Given the description of an element on the screen output the (x, y) to click on. 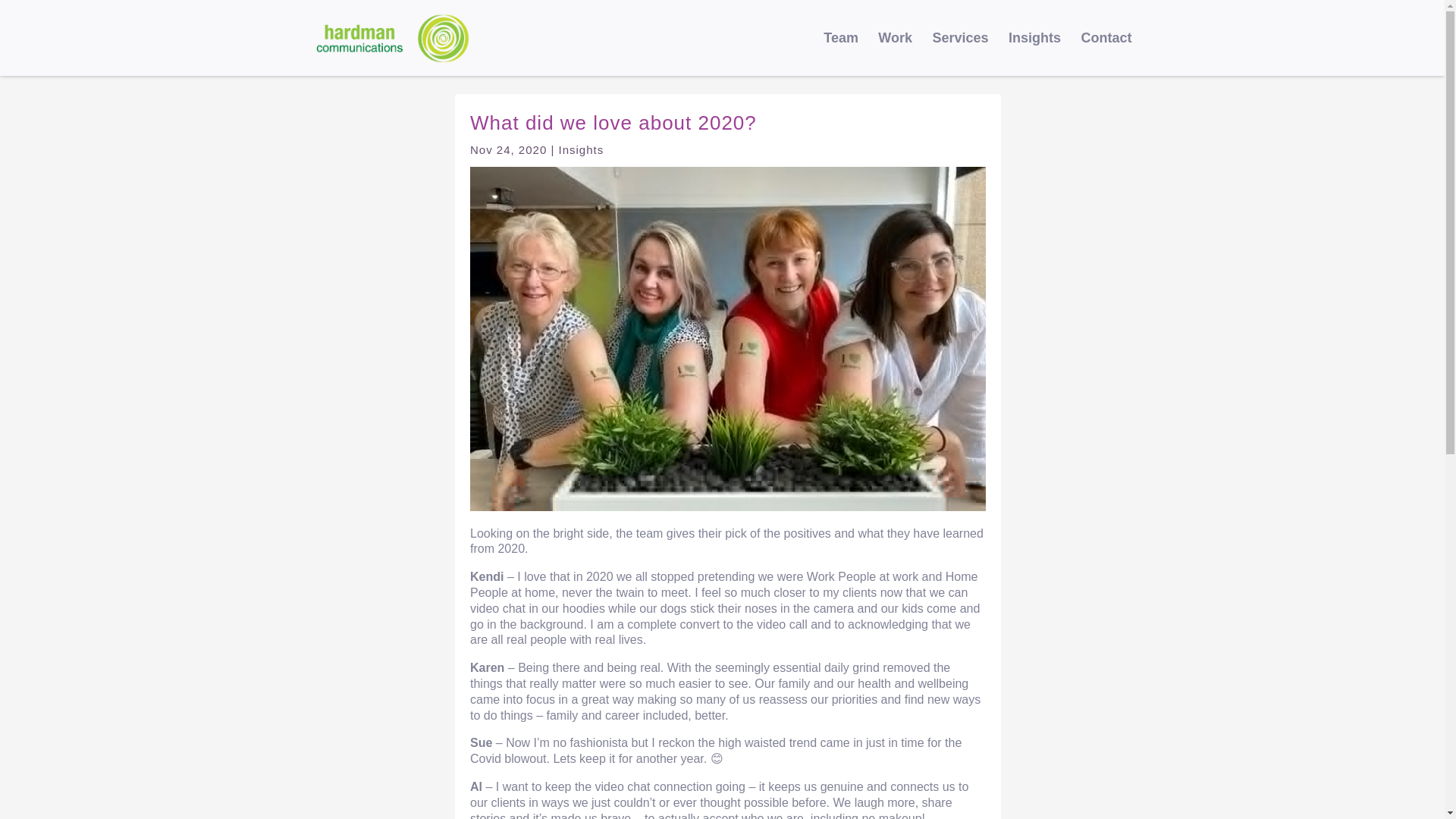
Contact (1106, 49)
Insights (580, 149)
Team (841, 49)
Services (960, 49)
Work (894, 49)
Insights (1035, 49)
